Given the description of an element on the screen output the (x, y) to click on. 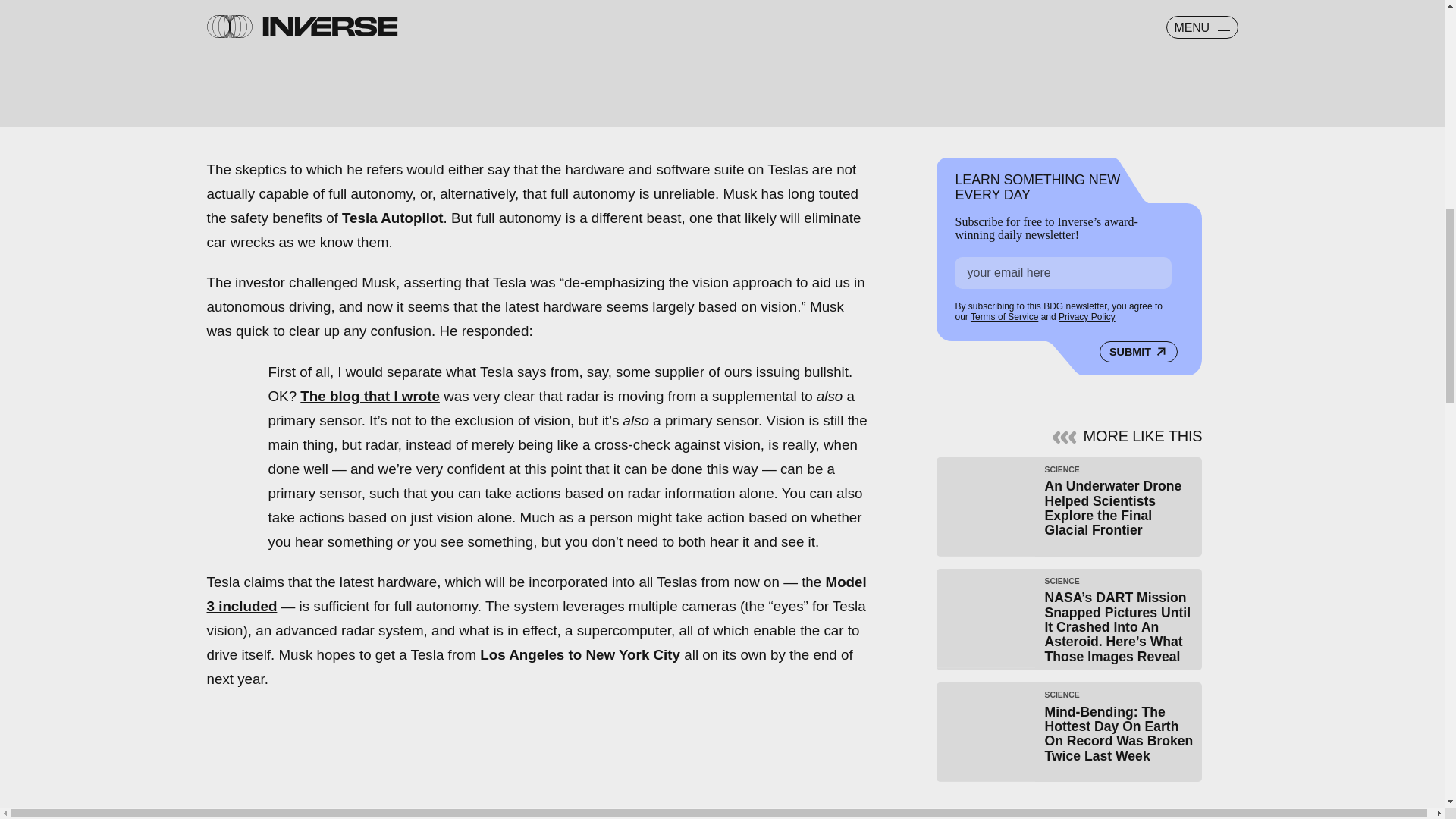
The blog that I wrote (369, 396)
SUBMIT (1138, 350)
Privacy Policy (1086, 317)
Tesla Autopilot (393, 217)
Los Angeles to New York City (579, 654)
Model 3 included (536, 594)
Terms of Service (1004, 317)
